Given the description of an element on the screen output the (x, y) to click on. 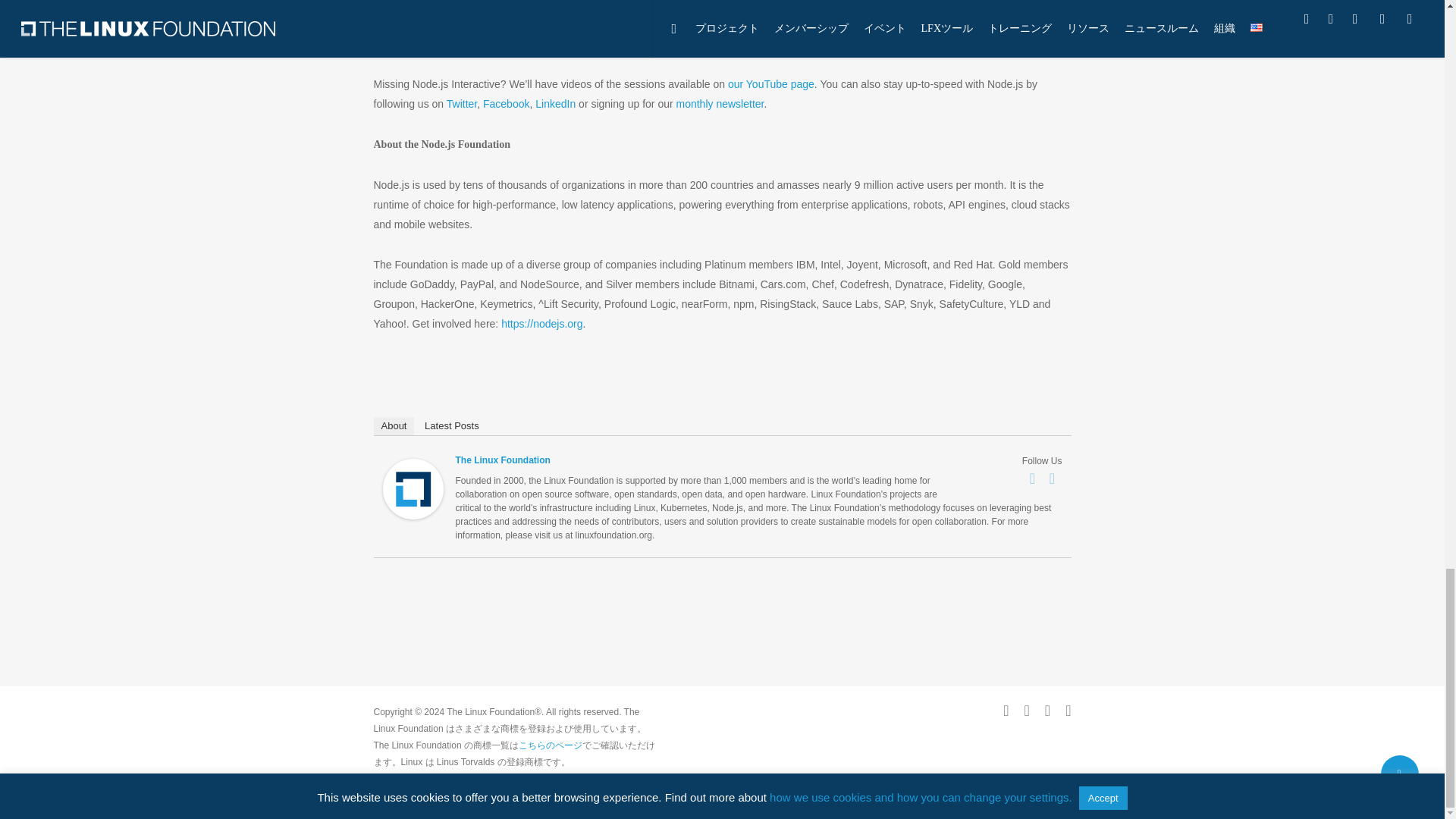
Facebook (1032, 478)
Twitter (1052, 478)
The Linux Foundation (411, 526)
